Given the description of an element on the screen output the (x, y) to click on. 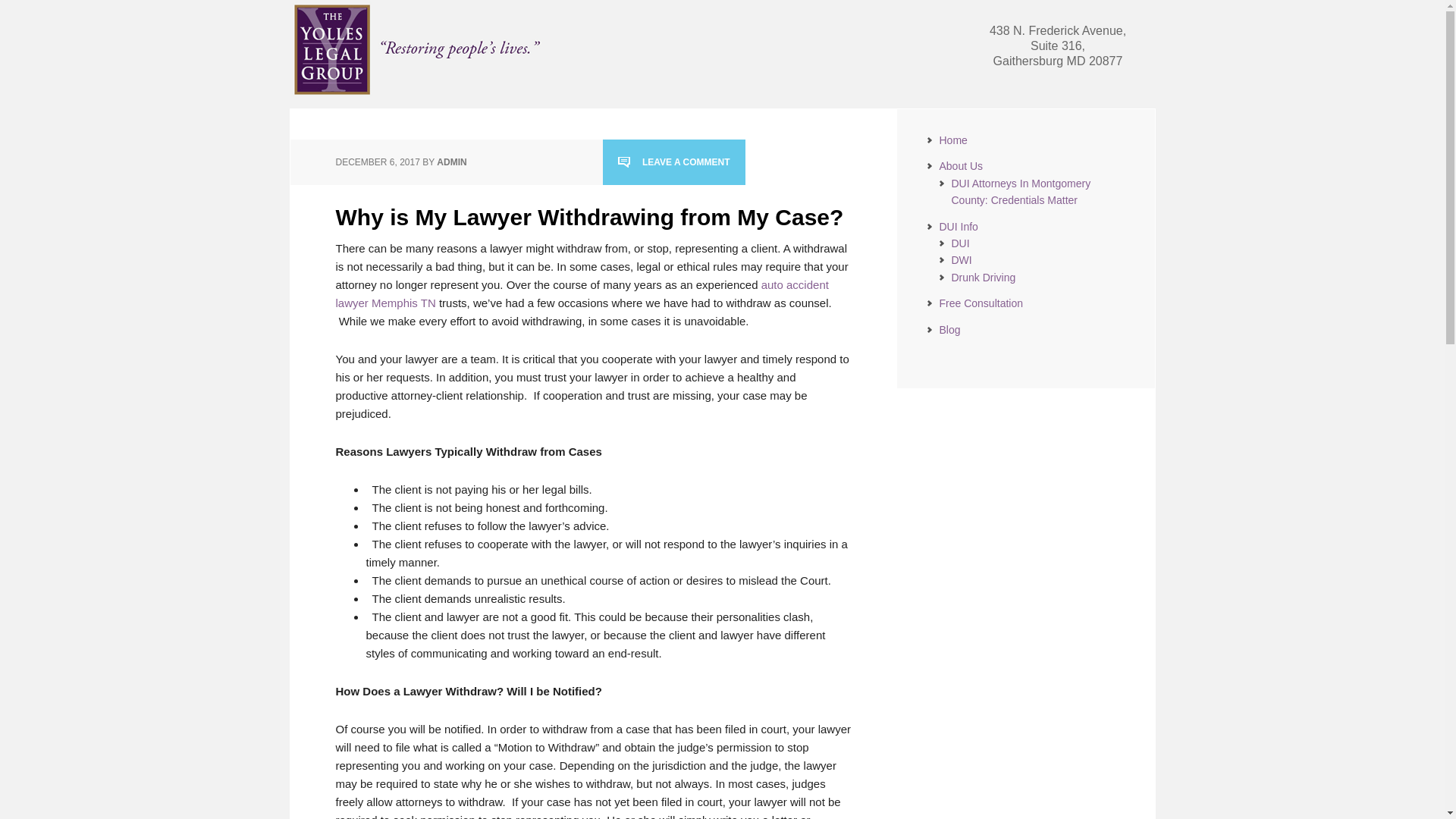
DUI Attorneys In Montgomery County: Credentials Matter (1020, 191)
LEAVE A COMMENT (673, 162)
Fight Your DUI-DWI Case (419, 49)
Free Consultation (981, 303)
DUI (959, 243)
About Us (960, 165)
h1 (419, 91)
DUI Info (957, 226)
auto accident lawyer Memphis TN (581, 292)
DWI (960, 259)
